Given the description of an element on the screen output the (x, y) to click on. 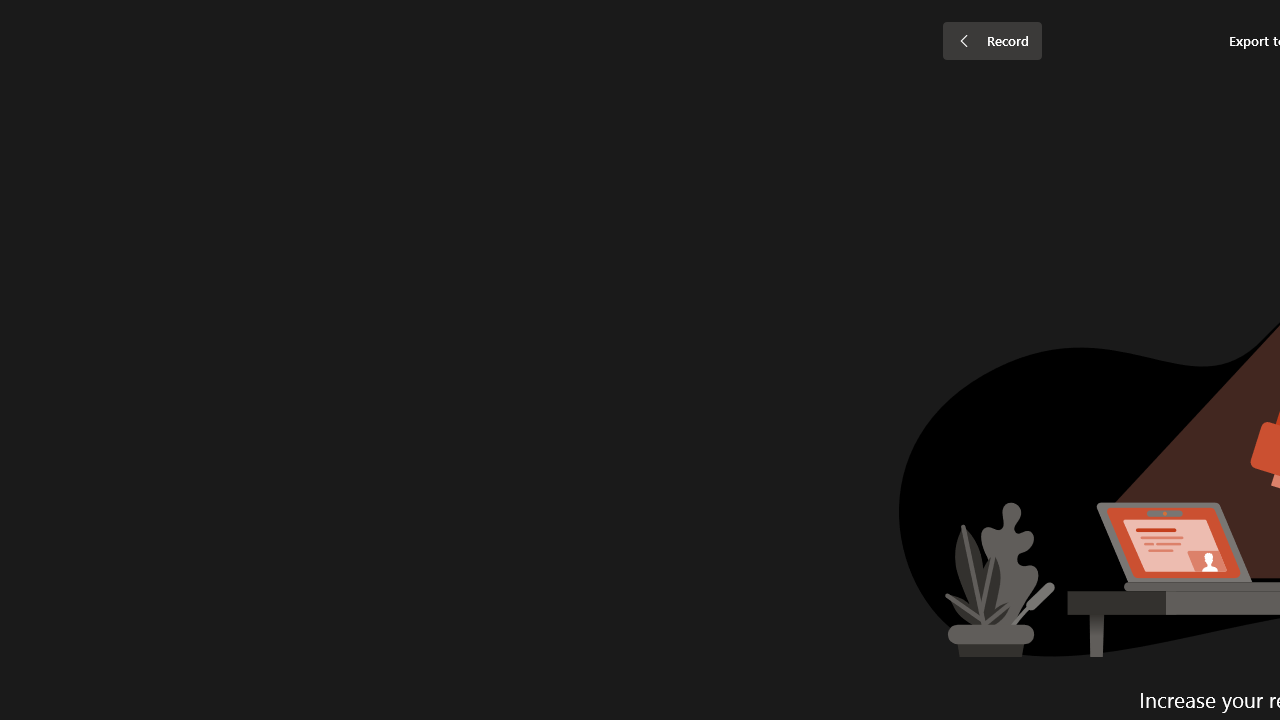
Reset to Cameo (474, 102)
Learn More (646, 102)
Screen Recording (290, 102)
From Beginning... (158, 102)
Picture Format (834, 48)
